Given the description of an element on the screen output the (x, y) to click on. 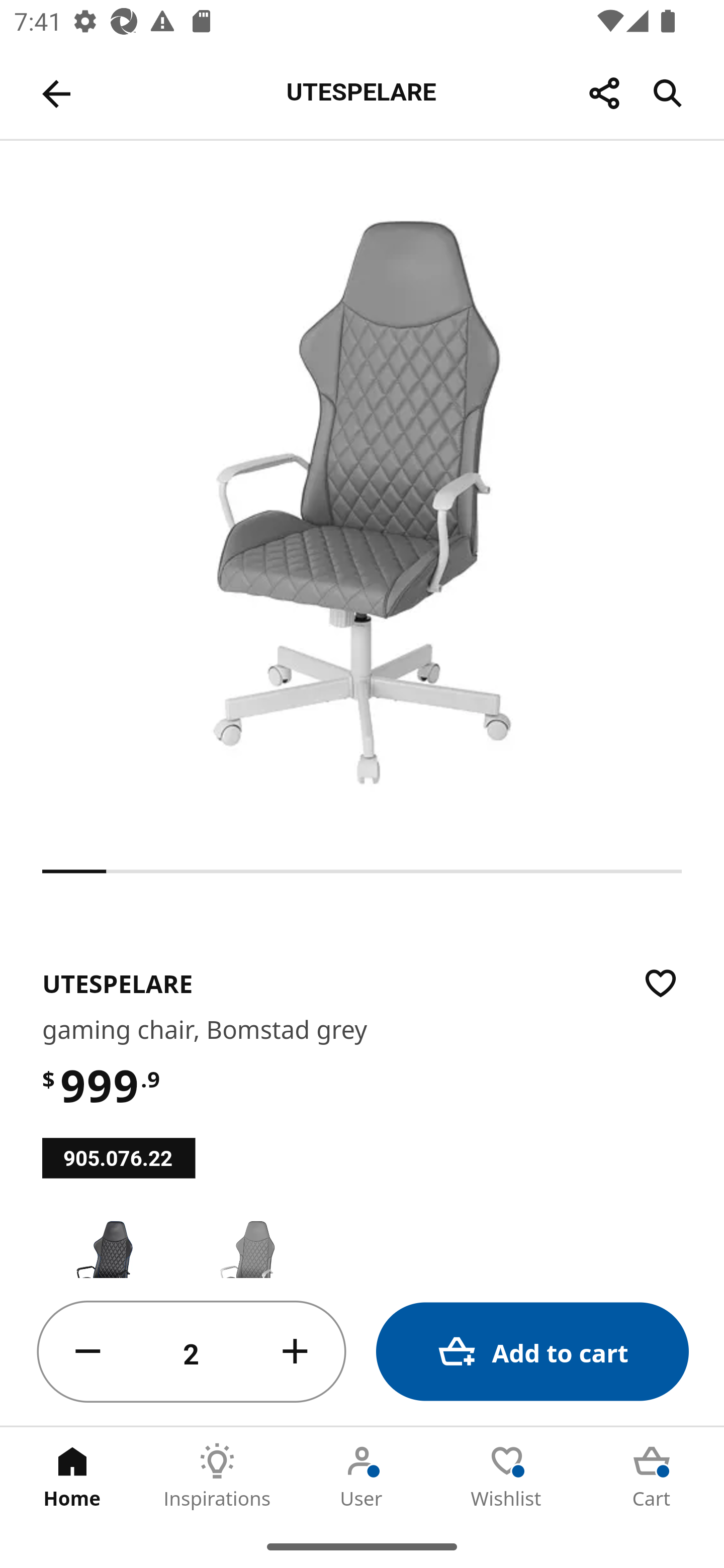
Add to cart (531, 1352)
2 (191, 1352)
Home
Tab 1 of 5 (72, 1476)
Inspirations
Tab 2 of 5 (216, 1476)
User
Tab 3 of 5 (361, 1476)
Wishlist
Tab 4 of 5 (506, 1476)
Cart
Tab 5 of 5 (651, 1476)
